Given the description of an element on the screen output the (x, y) to click on. 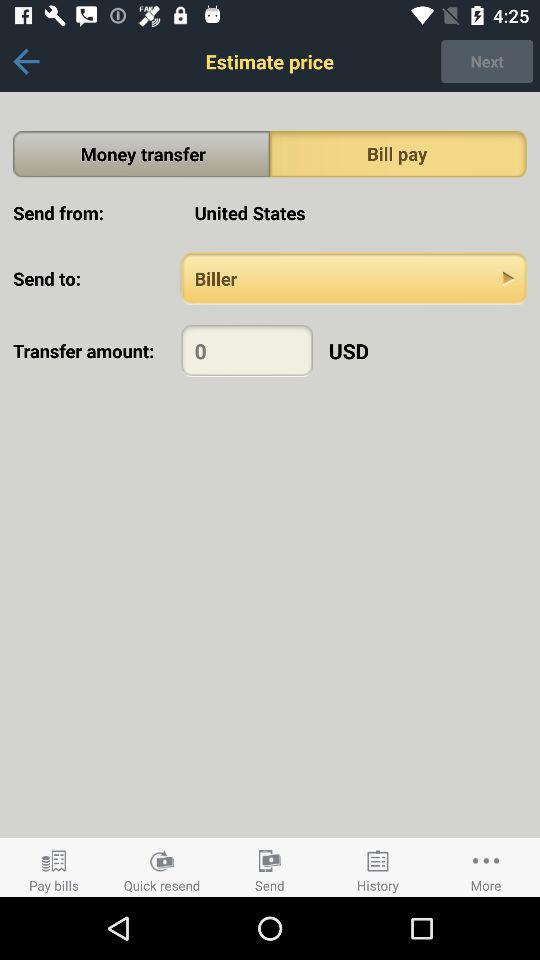
go to previous screen (26, 61)
